Given the description of an element on the screen output the (x, y) to click on. 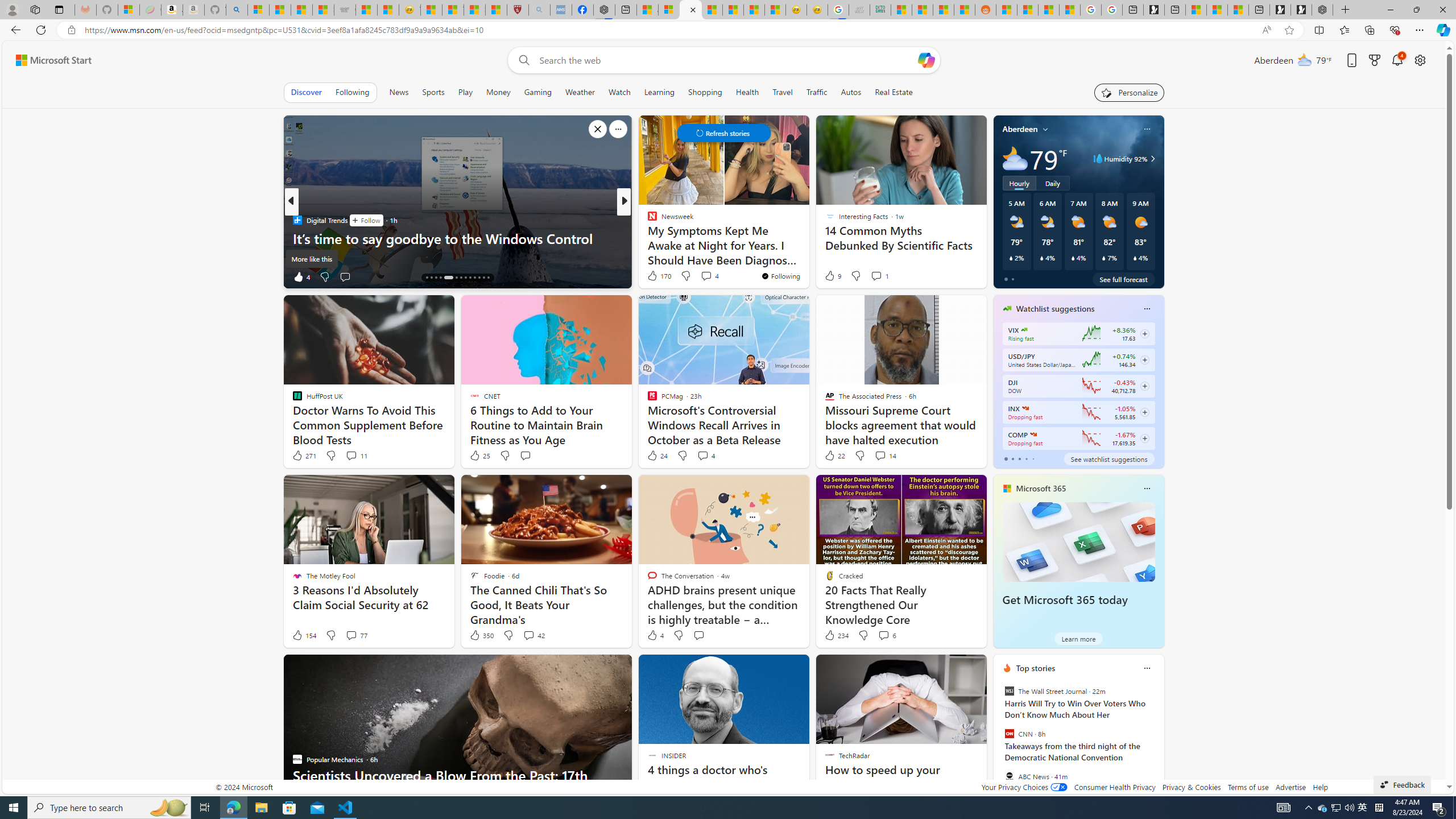
AutomationID: tab-22 (470, 277)
4 Like (655, 634)
104 Like (654, 276)
View comments 11 Comment (350, 455)
